Given the description of an element on the screen output the (x, y) to click on. 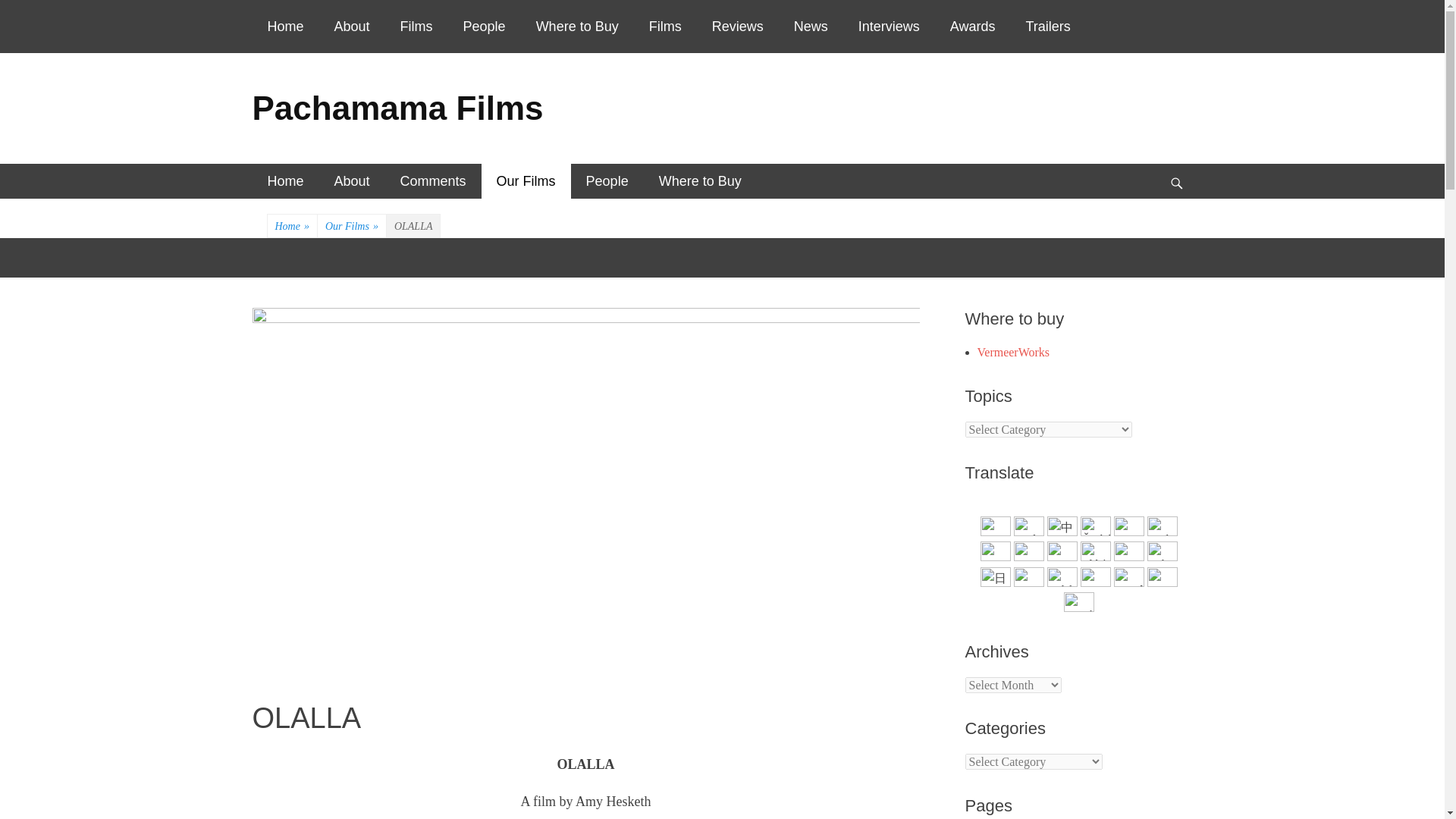
Awards (972, 26)
Home (284, 181)
Films (416, 26)
People (484, 26)
News (810, 26)
About (351, 181)
Films (665, 26)
Where to Buy (577, 26)
Home (284, 26)
Interviews (888, 26)
Trailers (1047, 26)
Reviews (737, 26)
About (351, 26)
Pachamama Films (397, 107)
